Given the description of an element on the screen output the (x, y) to click on. 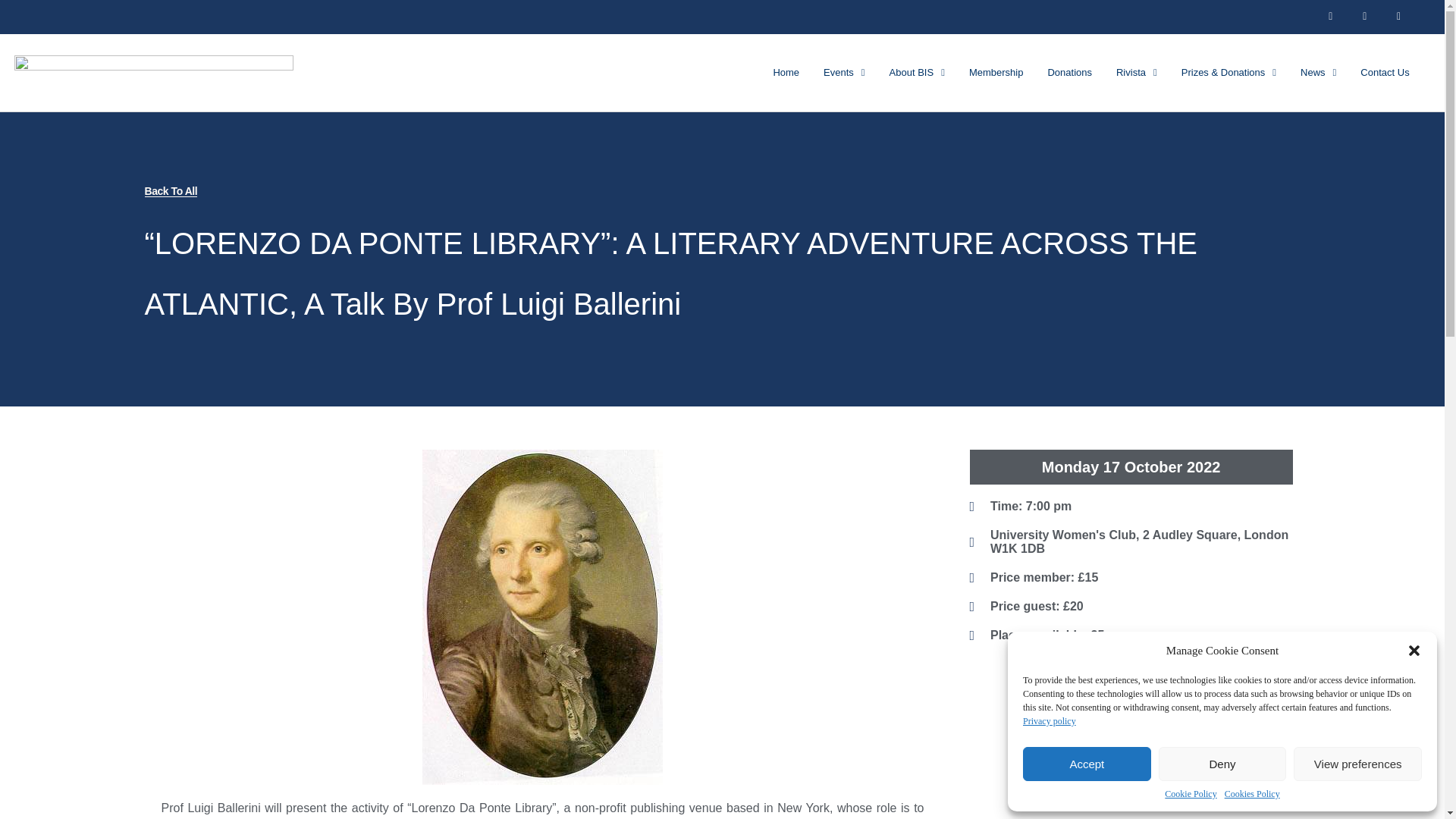
Deny (1222, 763)
Membership (995, 72)
Accept (1087, 763)
Cookie Policy (1189, 794)
Donations (1069, 72)
Privacy policy (1049, 720)
View preferences (1358, 763)
Cookies Policy (1251, 794)
About BIS (916, 72)
Contact Us (1384, 72)
